Given the description of an element on the screen output the (x, y) to click on. 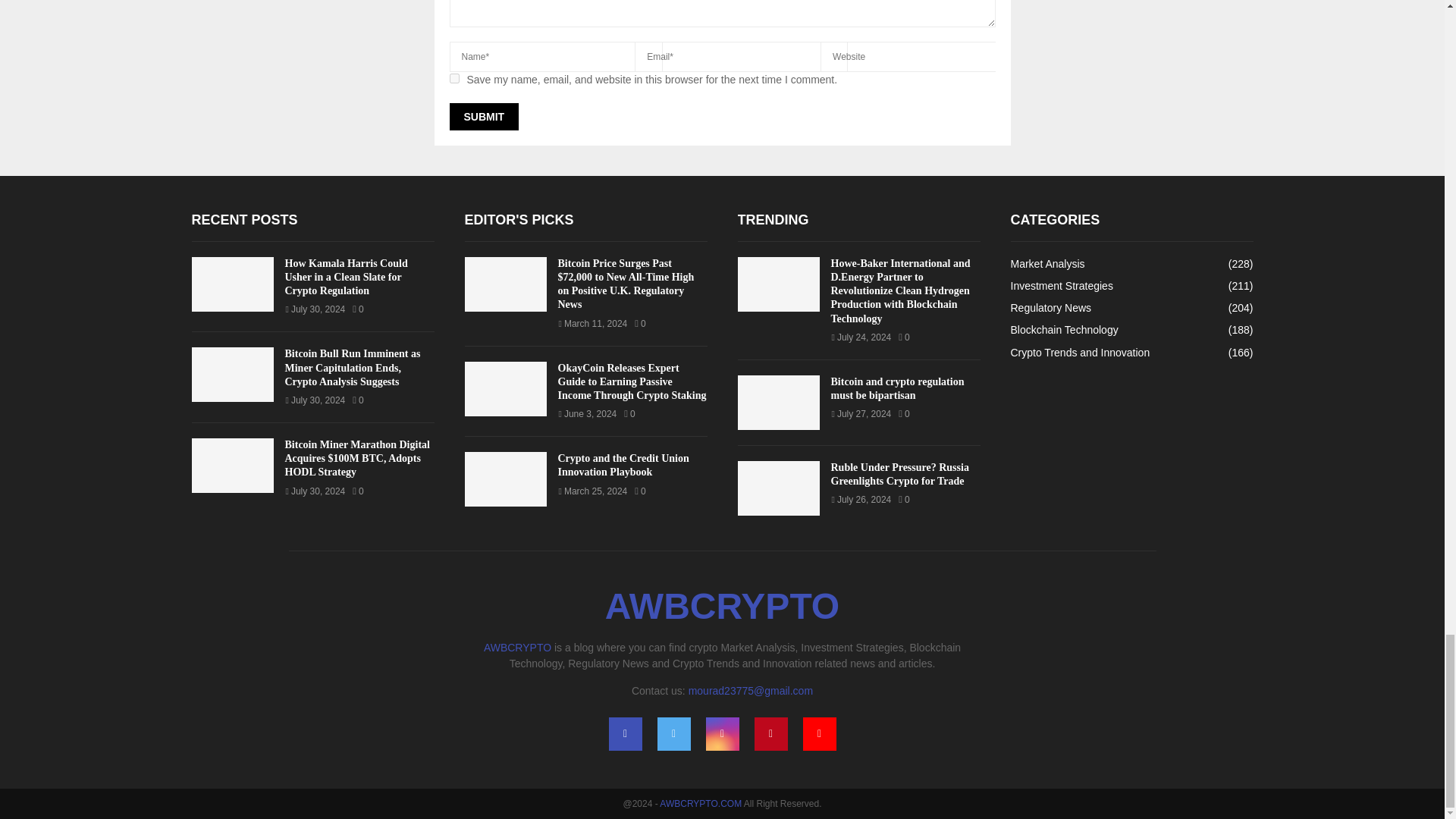
yes (453, 78)
Submit (483, 116)
